Given the description of an element on the screen output the (x, y) to click on. 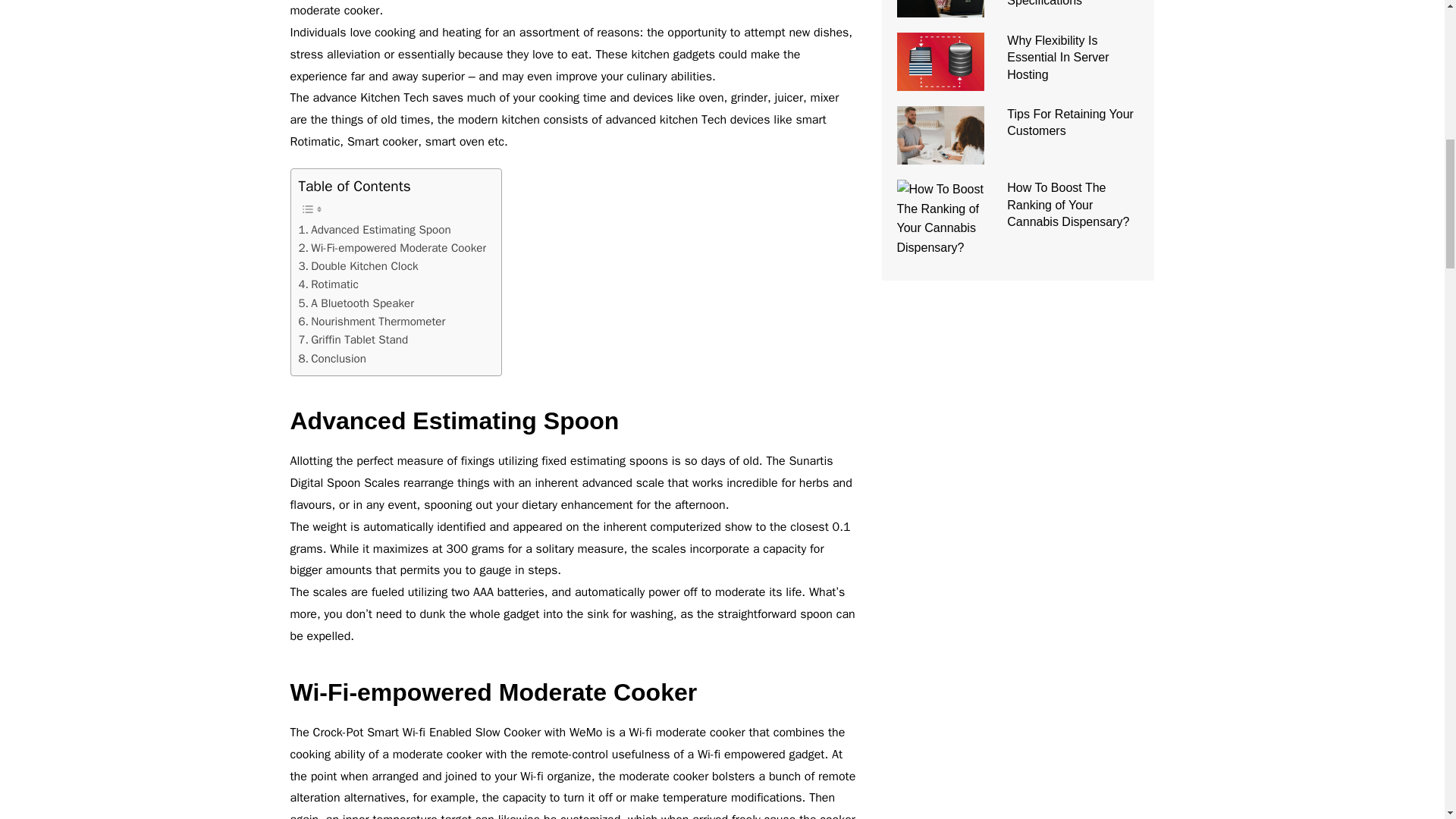
Advanced Estimating Spoon (374, 229)
Double Kitchen Clock  (358, 266)
A Bluetooth Speaker (356, 303)
Conclusion (332, 358)
Wi-Fi-empowered Moderate Cooker (392, 248)
Double Kitchen Clock (358, 266)
Rotimatic (328, 284)
Rotimatic (328, 284)
Advanced Estimating Spoon  (374, 229)
Griffin Tablet Stand  (353, 339)
A Bluetooth Speaker (356, 303)
Nourishment Thermometer  (371, 321)
Wi-Fi-empowered Moderate Cooker (392, 248)
